Given the description of an element on the screen output the (x, y) to click on. 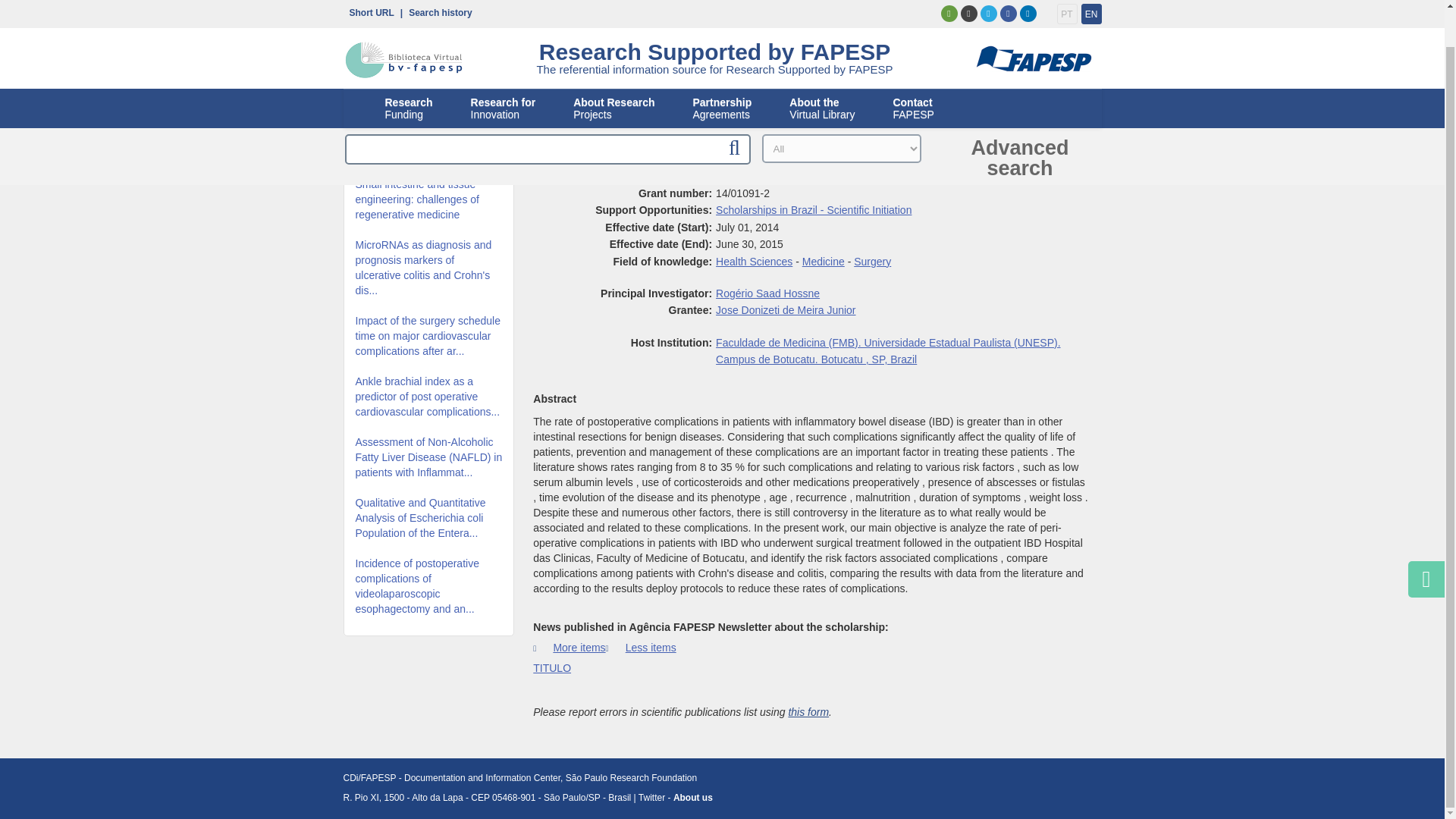
Host Institution (887, 350)
bv-cdi (403, 22)
FAPESP (1031, 22)
